Given the description of an element on the screen output the (x, y) to click on. 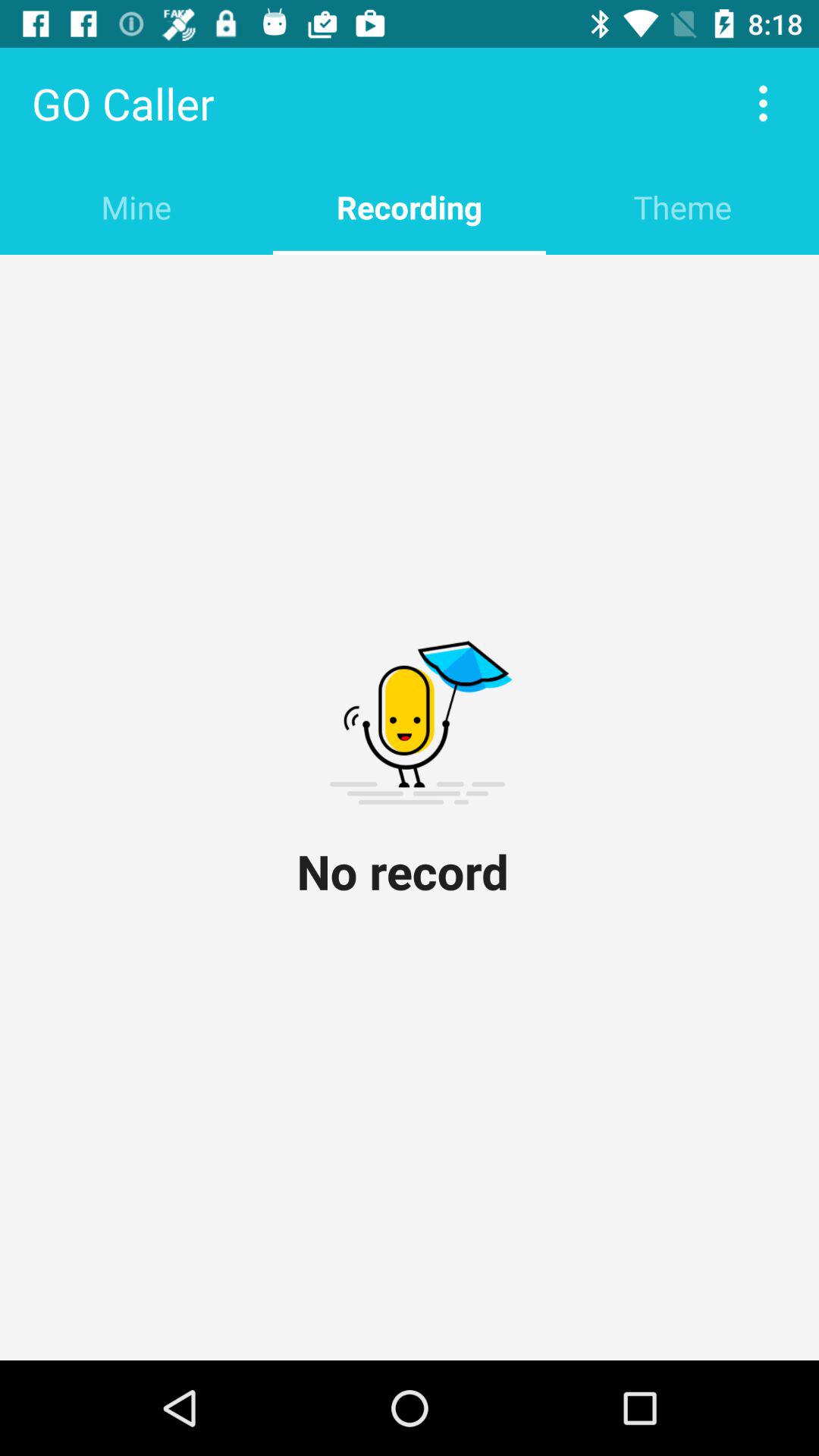
click item at the top left corner (136, 206)
